Given the description of an element on the screen output the (x, y) to click on. 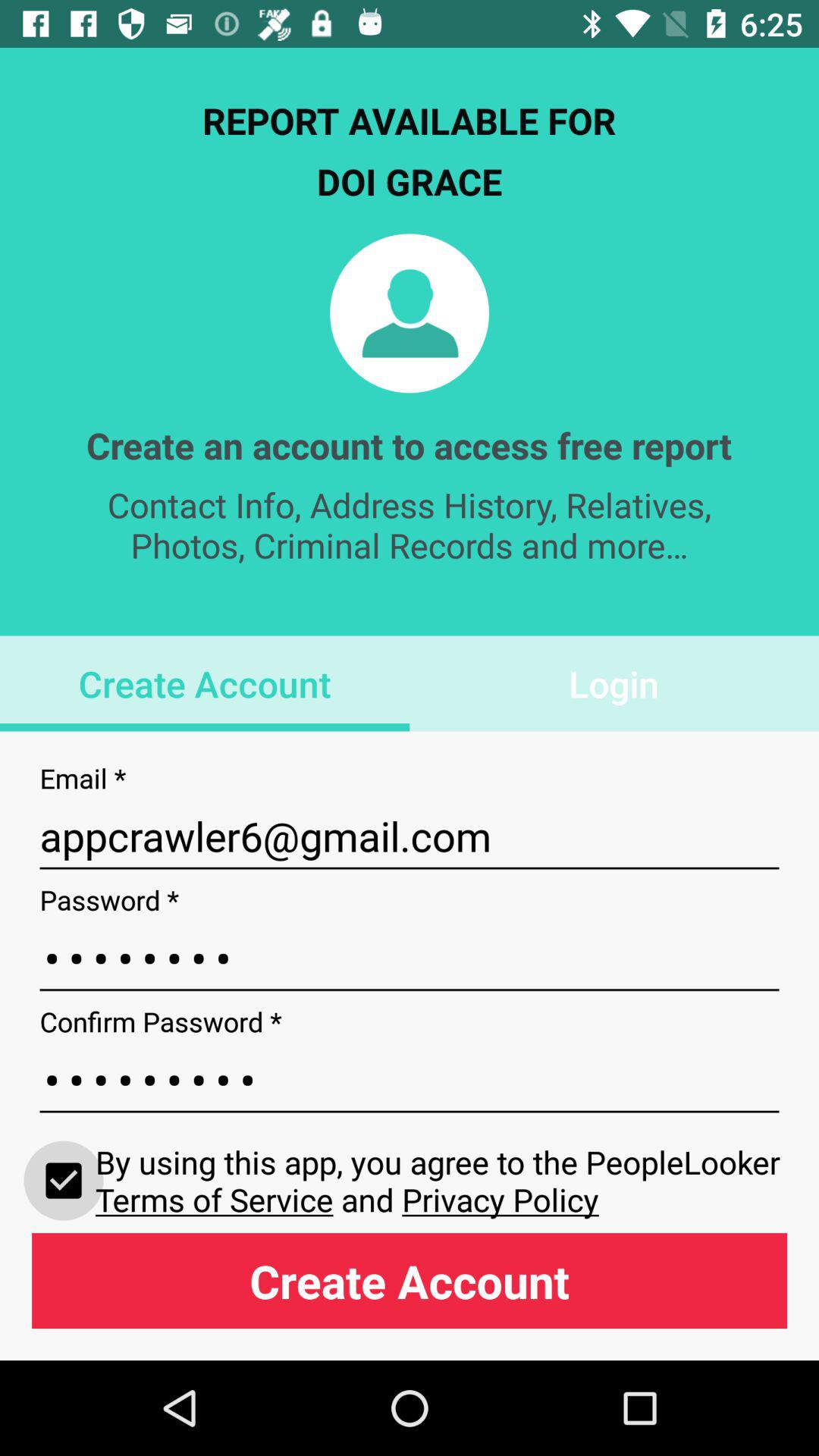
turn on icon above the create account item (441, 1180)
